Given the description of an element on the screen output the (x, y) to click on. 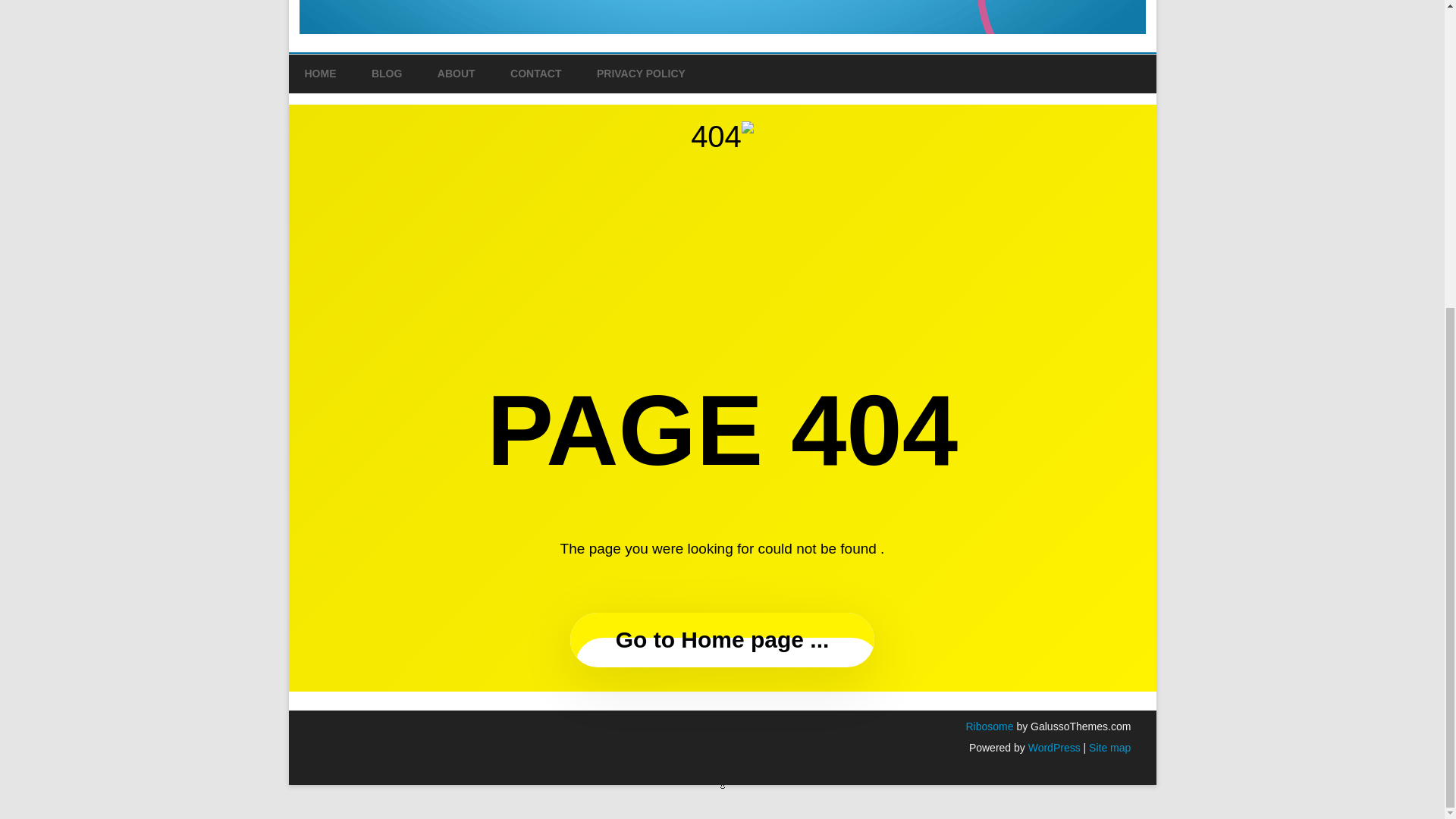
PRIVACY POLICY (640, 74)
Ribosome (989, 726)
ABOUT (457, 74)
WordPress (1052, 747)
CONTACT (535, 74)
... Go to Home page (722, 639)
Site map (1110, 747)
